Given the description of an element on the screen output the (x, y) to click on. 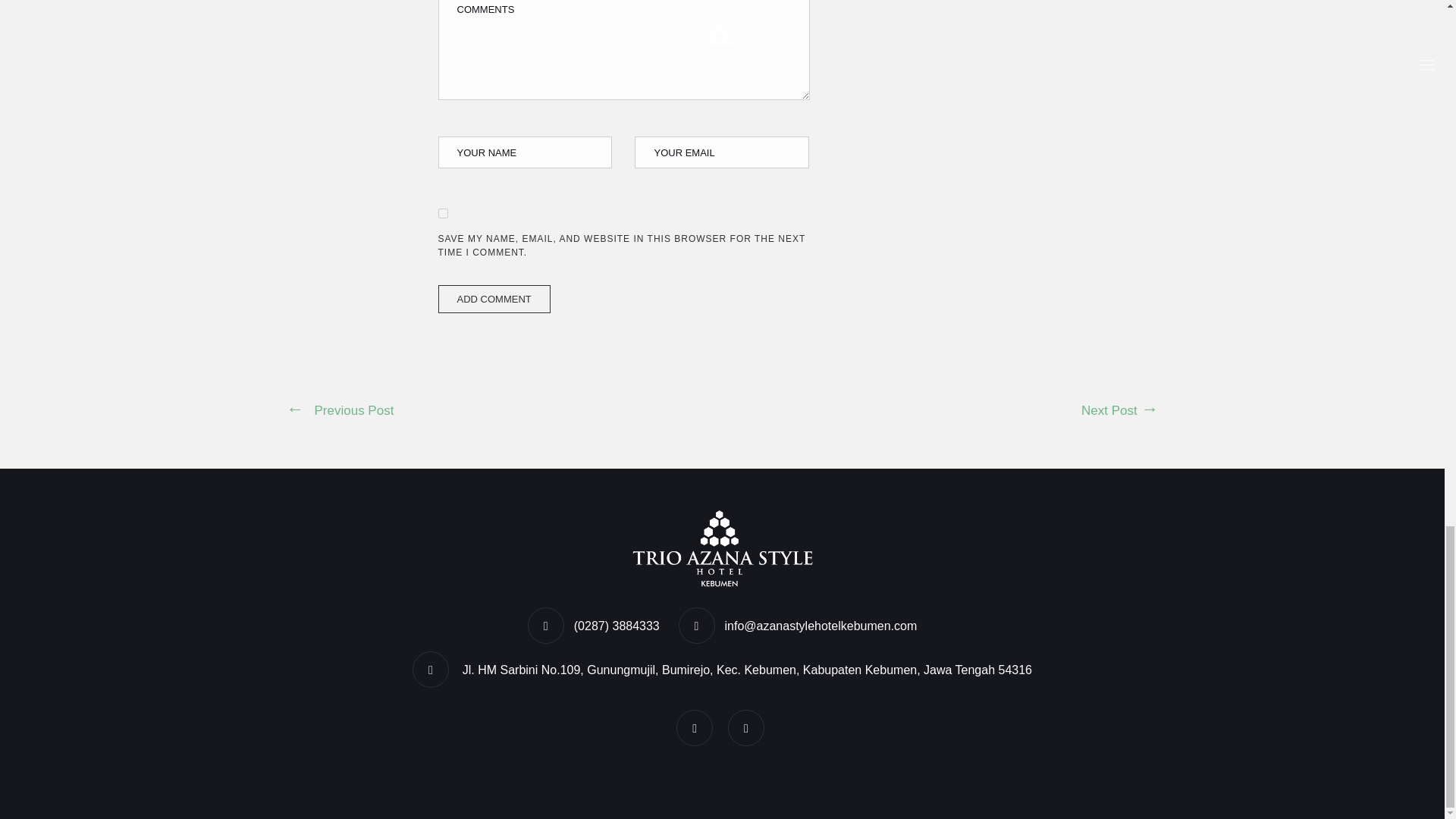
Add Comment (494, 299)
Add Comment (494, 299)
Facebook (696, 728)
yes (443, 213)
Instagram (747, 728)
